Given the description of an element on the screen output the (x, y) to click on. 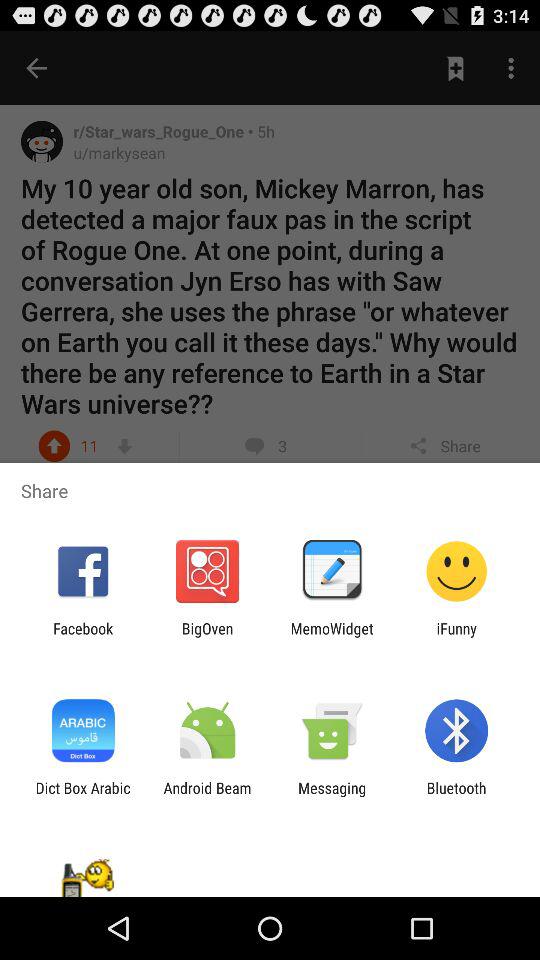
click the icon to the left of the ifunny item (331, 637)
